Given the description of an element on the screen output the (x, y) to click on. 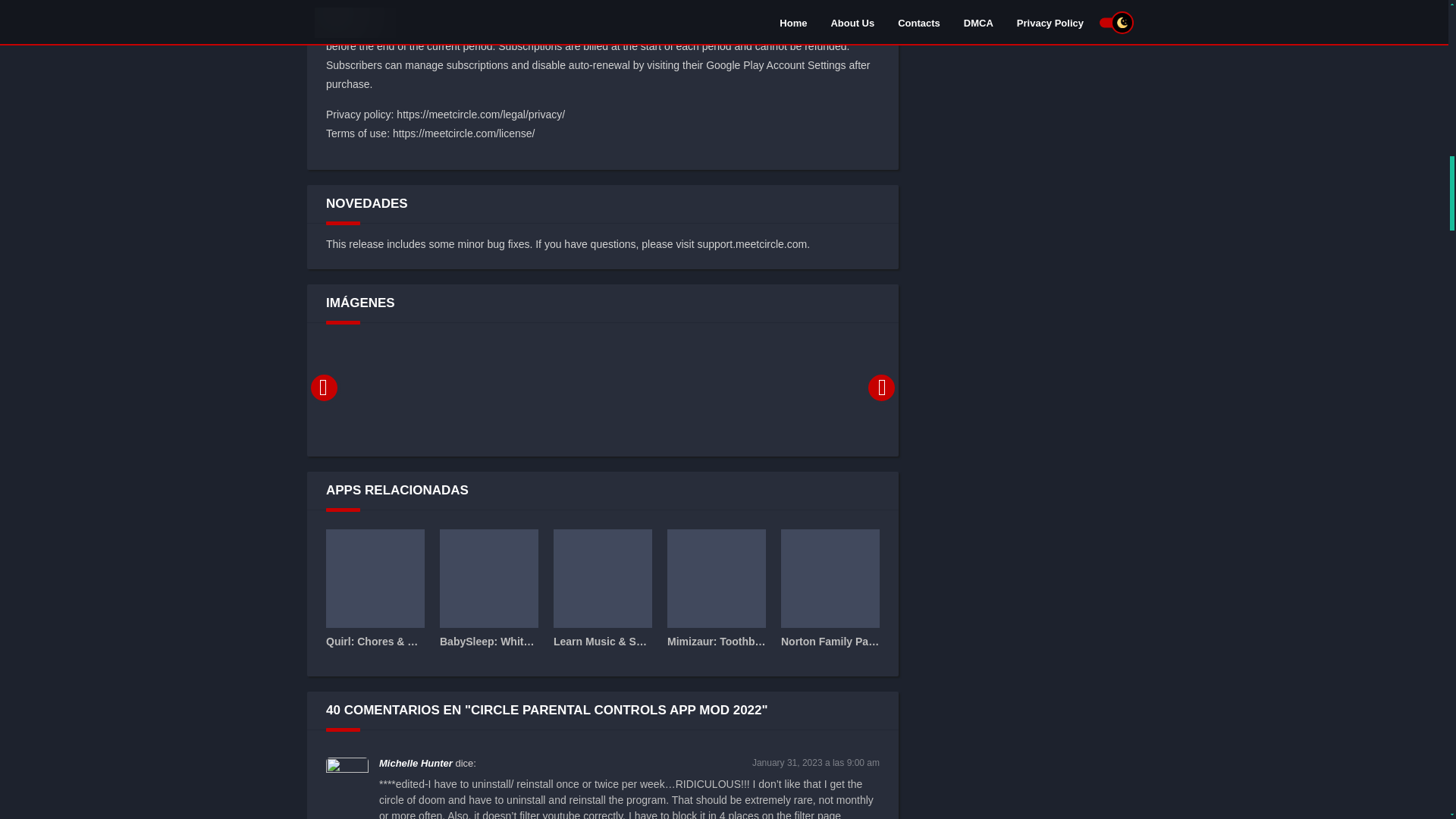
Michelle Hunter (415, 763)
January 31, 2023 a las 9:00 am (815, 762)
